Given the description of an element on the screen output the (x, y) to click on. 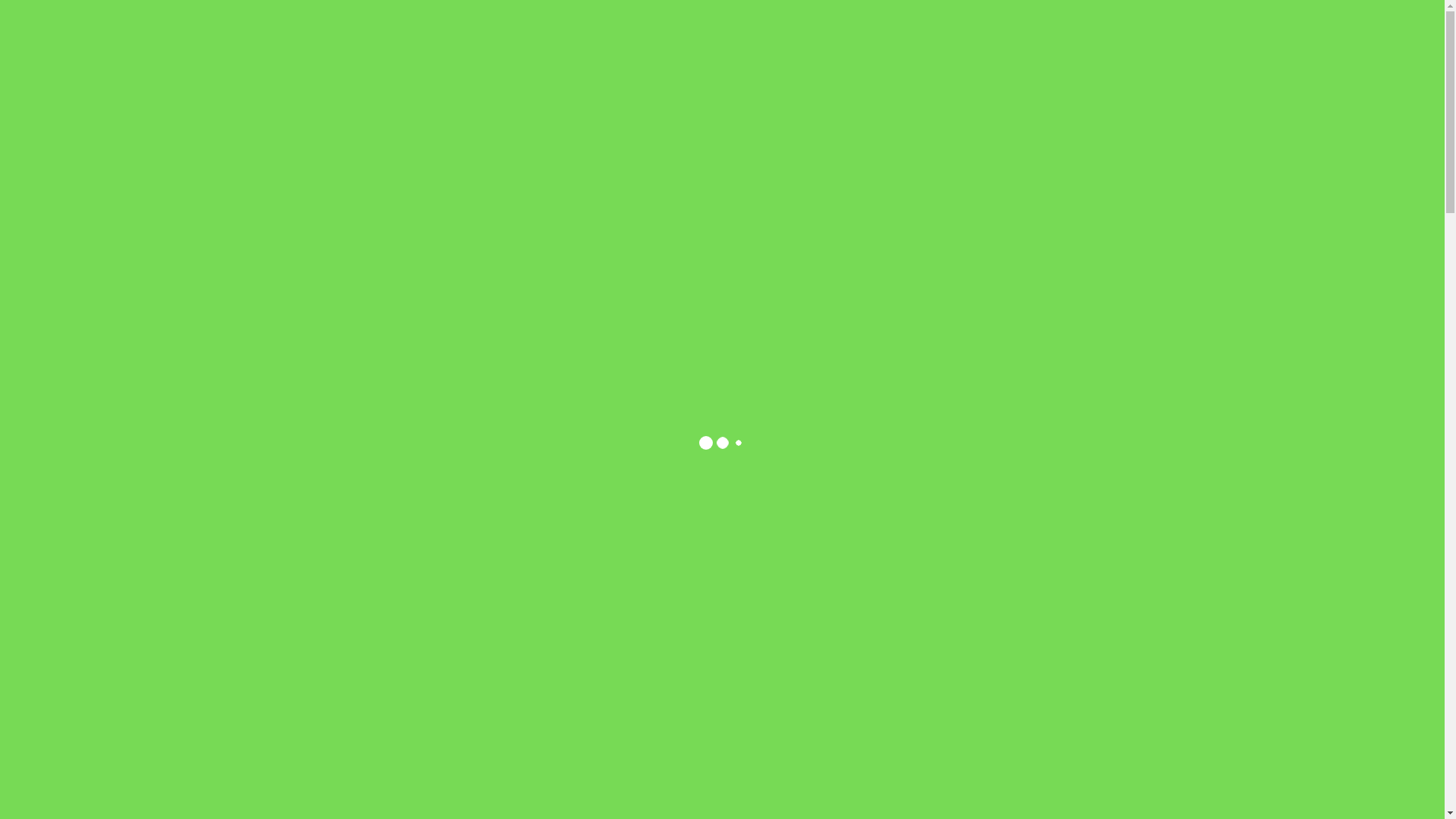
ABOUT Element type: text (612, 77)
HOME Element type: text (553, 77)
VIDEOS Element type: text (1036, 77)
PACKAGE Element type: text (869, 77)
MACHINES FOR SALE Element type: text (712, 77)
CONTACT Element type: text (1107, 77)
FABRICATION Element type: text (955, 77)
BITS Element type: text (807, 77)
